Given the description of an element on the screen output the (x, y) to click on. 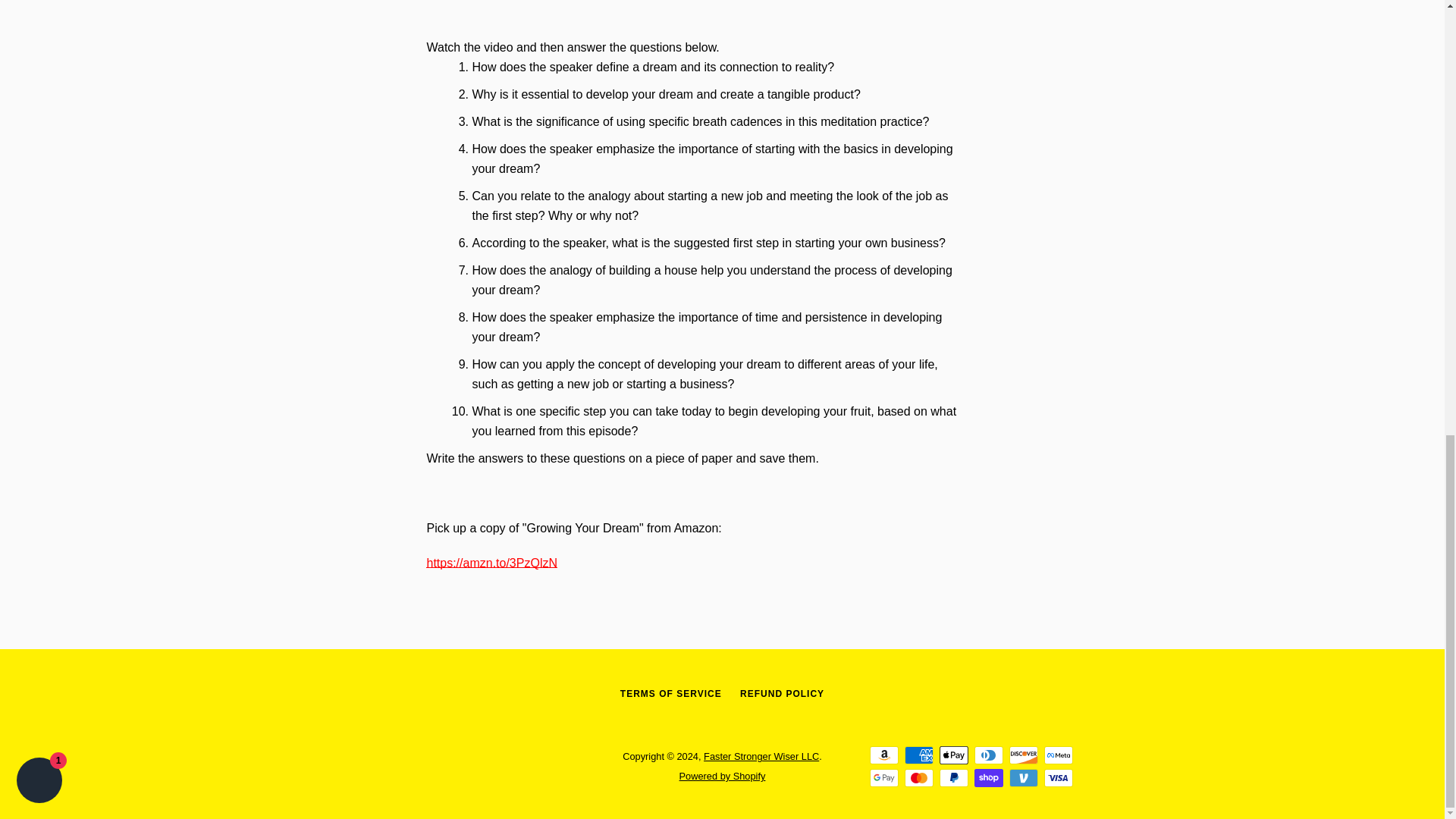
Amazon (883, 755)
YouTube video player (691, 18)
Venmo (1022, 778)
Diners Club (988, 755)
Visa (1057, 778)
Discover (1022, 755)
PayPal (953, 778)
Meta Pay (1057, 755)
American Express (918, 755)
Faster Stronger Wiser LLC (760, 756)
Mastercard (918, 778)
Apple Pay (953, 755)
REFUND POLICY (781, 693)
Google Pay (883, 778)
Shop Pay (988, 778)
